Given the description of an element on the screen output the (x, y) to click on. 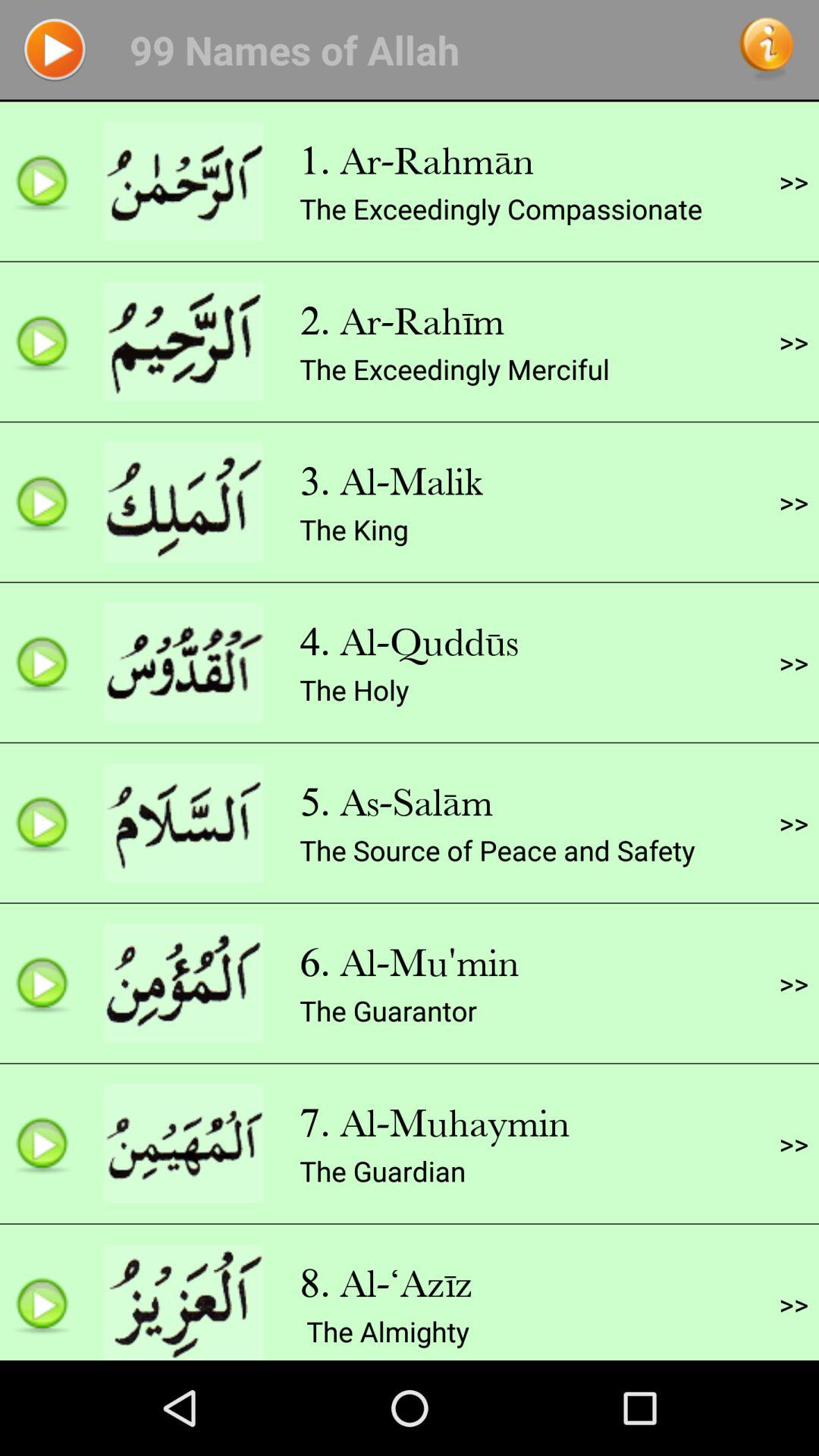
turn on the icon next to the 99 names of icon (767, 49)
